Given the description of an element on the screen output the (x, y) to click on. 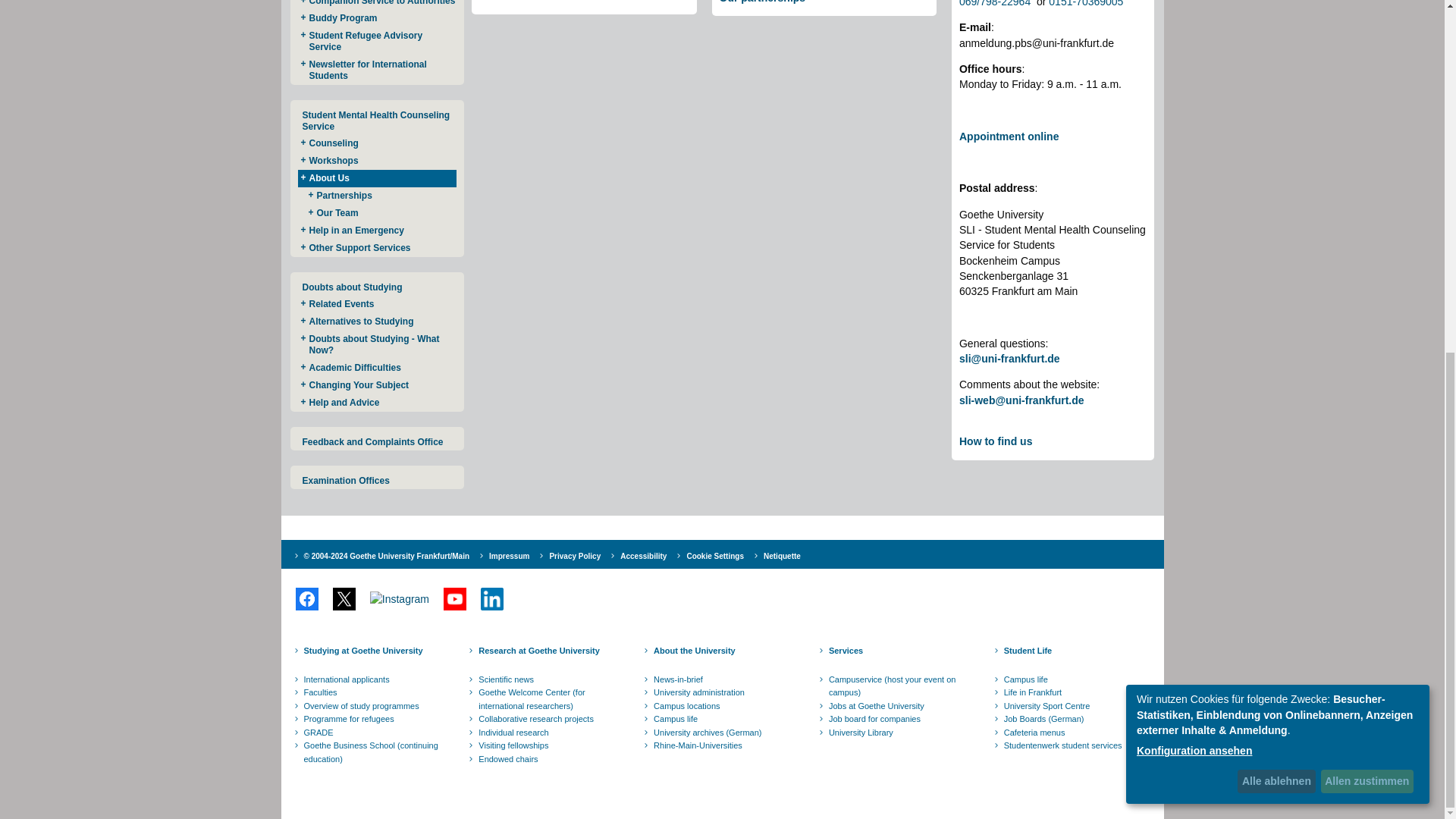
Instagram (398, 598)
